Given the description of an element on the screen output the (x, y) to click on. 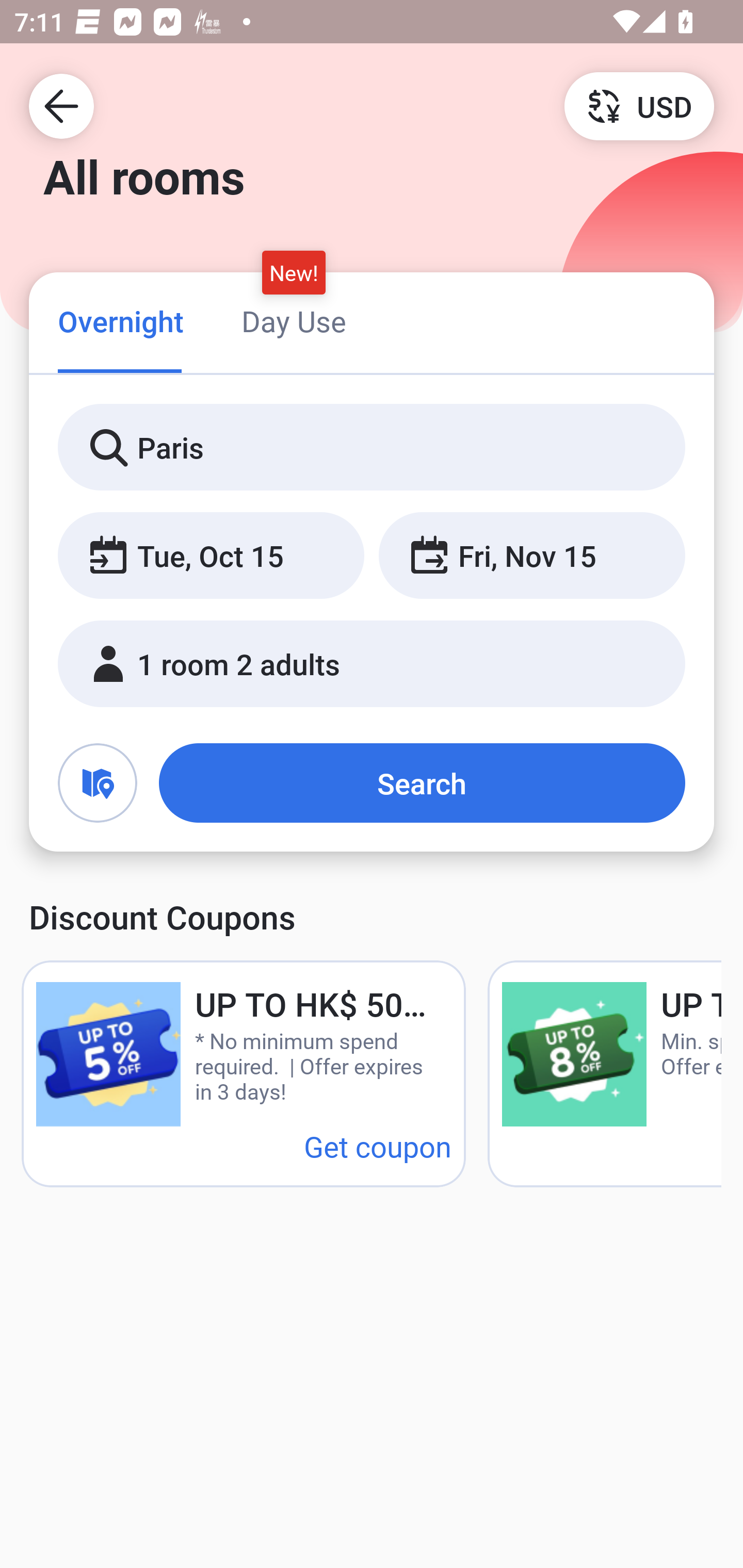
USD (639, 105)
New! (294, 272)
Day Use (293, 321)
Paris (371, 447)
Tue, Oct 15 (210, 555)
Fri, Nov 15 (531, 555)
1 room 2 adults (371, 663)
Search (422, 783)
Get coupon (377, 1146)
